Given the description of an element on the screen output the (x, y) to click on. 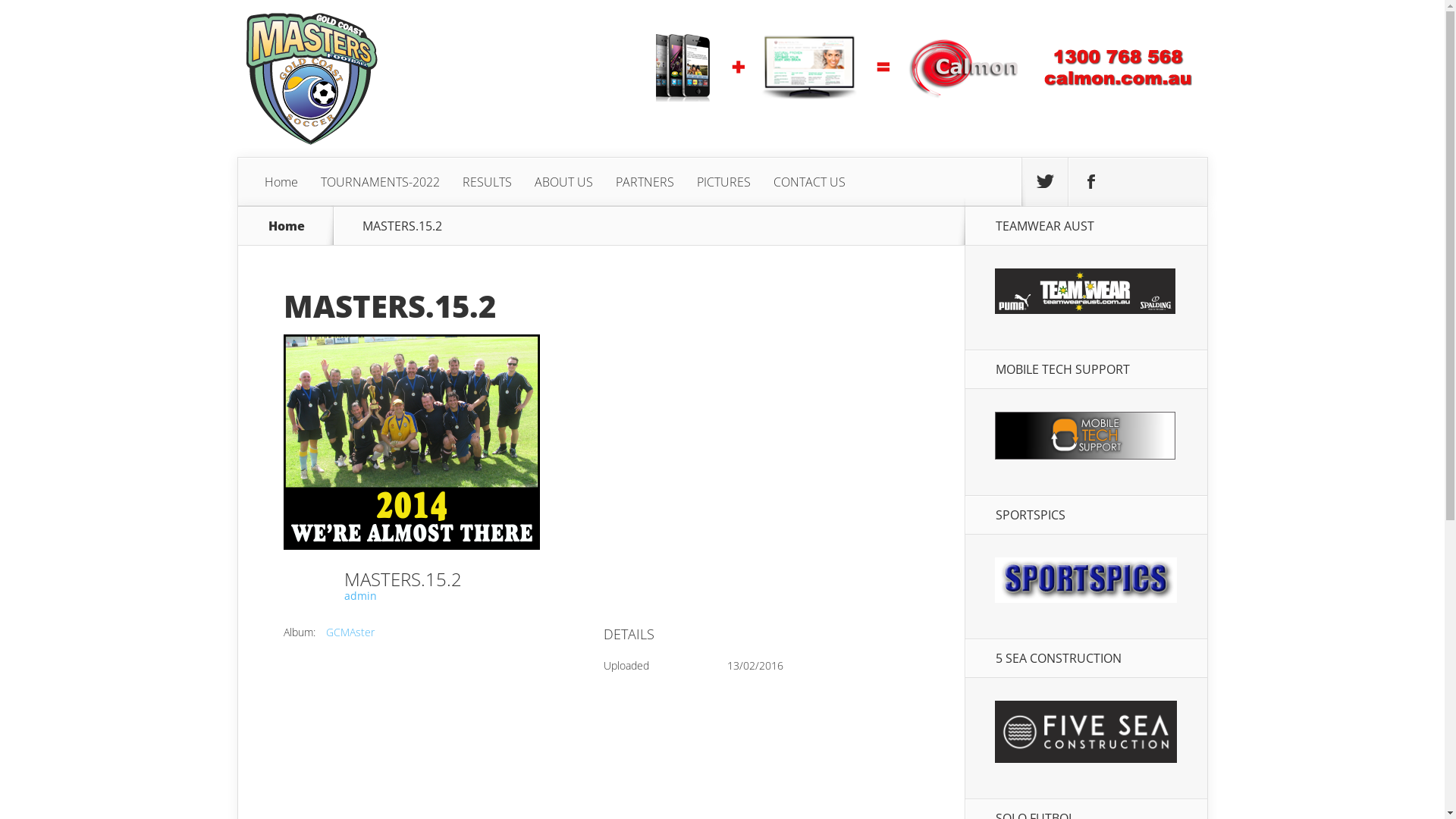
PARTNERS Element type: text (643, 181)
Follow us on Facebook Element type: text (1090, 181)
GCMAster Element type: text (350, 631)
Follow us on Twitter Element type: text (1044, 181)
Home Element type: text (281, 181)
TOURNAMENTS-2022 Element type: text (380, 181)
Home Element type: text (286, 225)
CONTACT US Element type: text (808, 181)
PICTURES Element type: text (723, 181)
SPORTSPICS Element type: hover (1085, 597)
ABOUT US Element type: text (563, 181)
admin Element type: text (360, 595)
RESULTS Element type: text (486, 181)
